Given the description of an element on the screen output the (x, y) to click on. 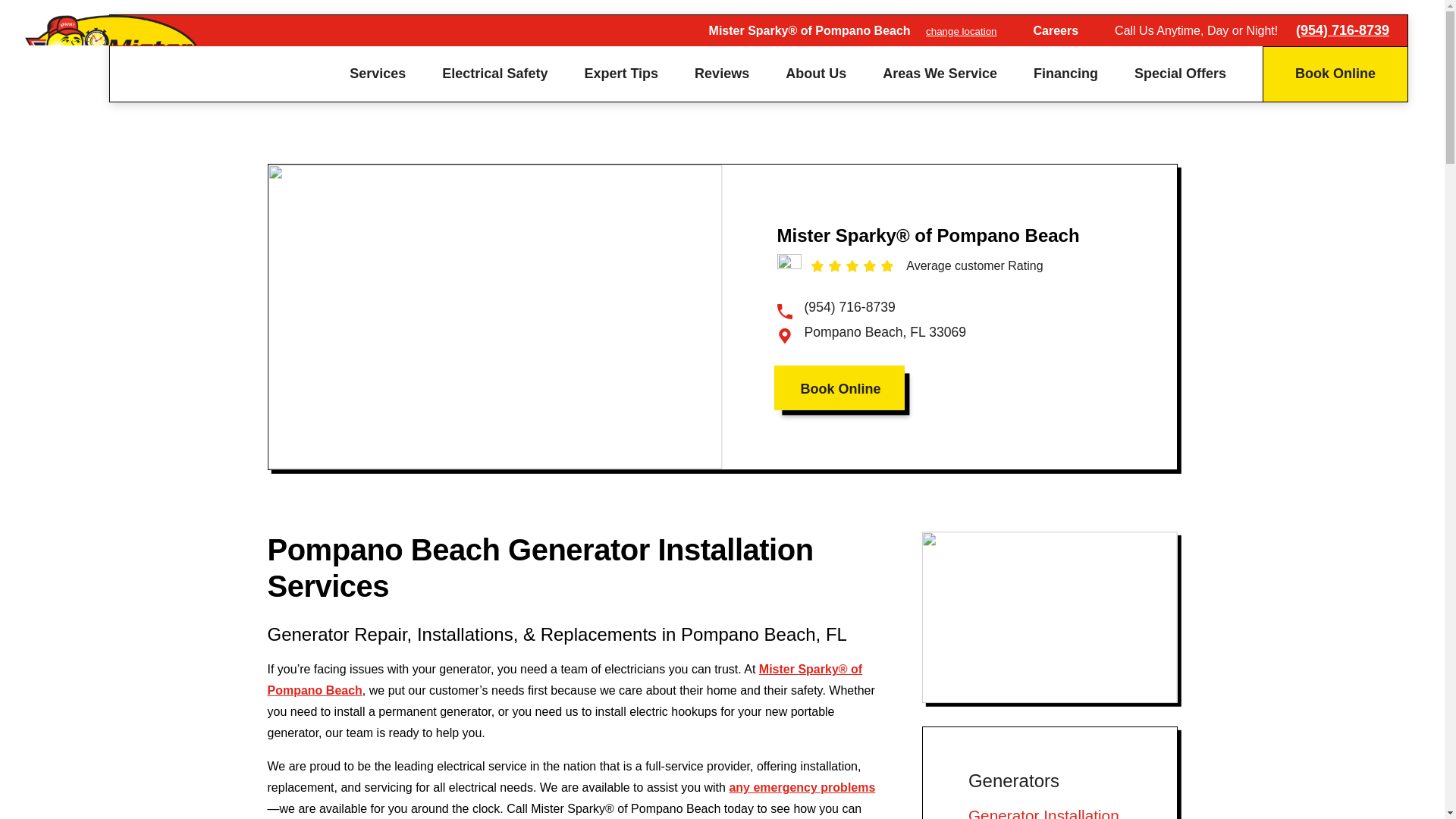
Services (377, 73)
change location (960, 30)
Careers (1055, 30)
